Given the description of an element on the screen output the (x, y) to click on. 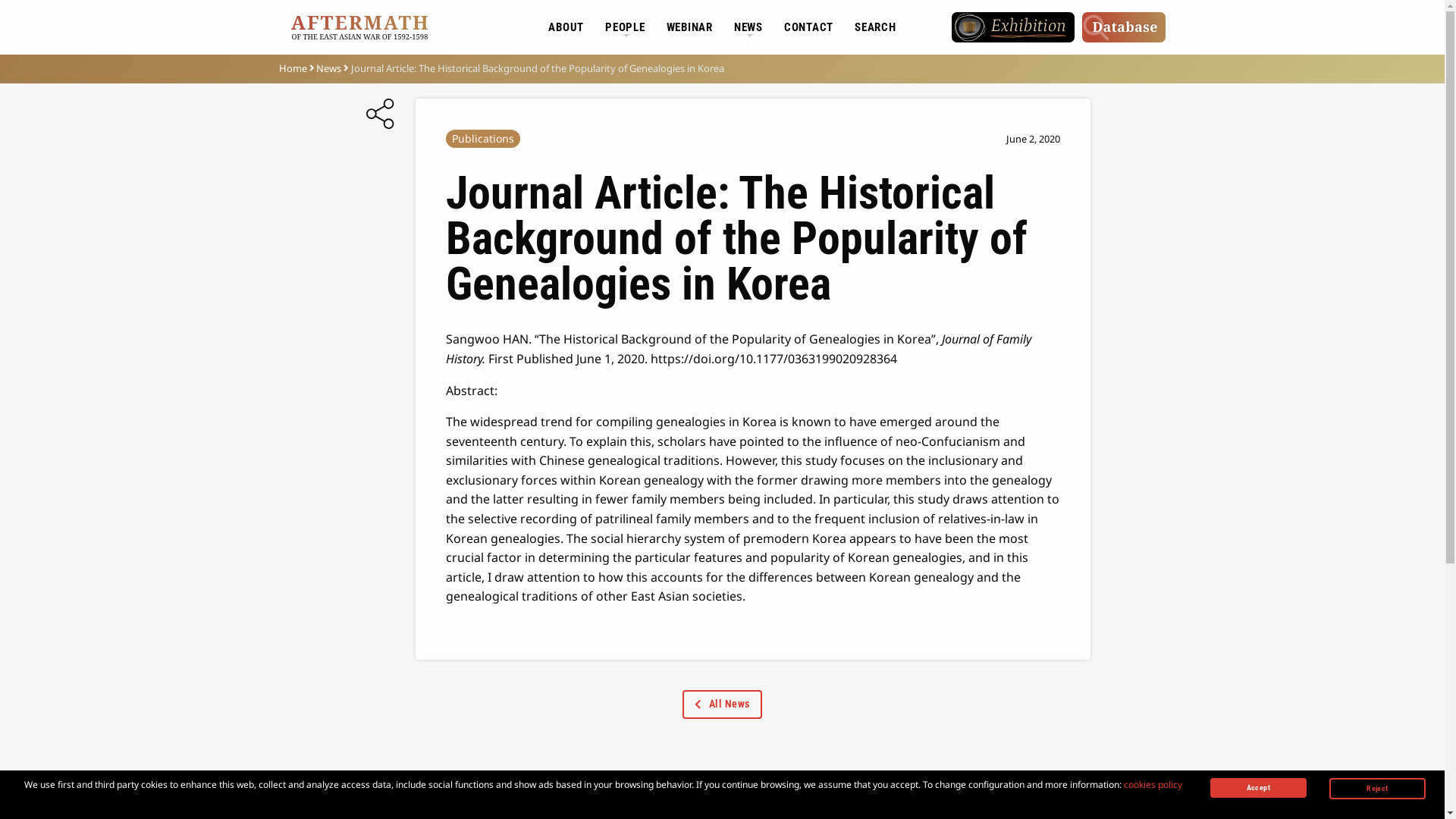
Accept
Abre en nueva ventana Element type: text (1258, 787)
Reject
Abre en nueva ventana Element type: text (1377, 788)
ABOUT Element type: text (565, 26)
PEOPLE Element type: text (625, 26)
WEBINAR Element type: text (689, 26)
NEWS Element type: text (748, 26)
Abre en nueva ventana Element type: text (1012, 27)
Publications Element type: text (482, 138)
CONTACT Element type: text (808, 26)
cookies policy
Abre en nueva ventana Element type: text (1152, 784)
Aftermath of the East Asian War of 1592-1598 Element type: hover (359, 25)
SEARCH Element type: text (875, 26)
All News Element type: text (721, 704)
News Element type: text (328, 68)
Home Element type: text (293, 68)
